Given the description of an element on the screen output the (x, y) to click on. 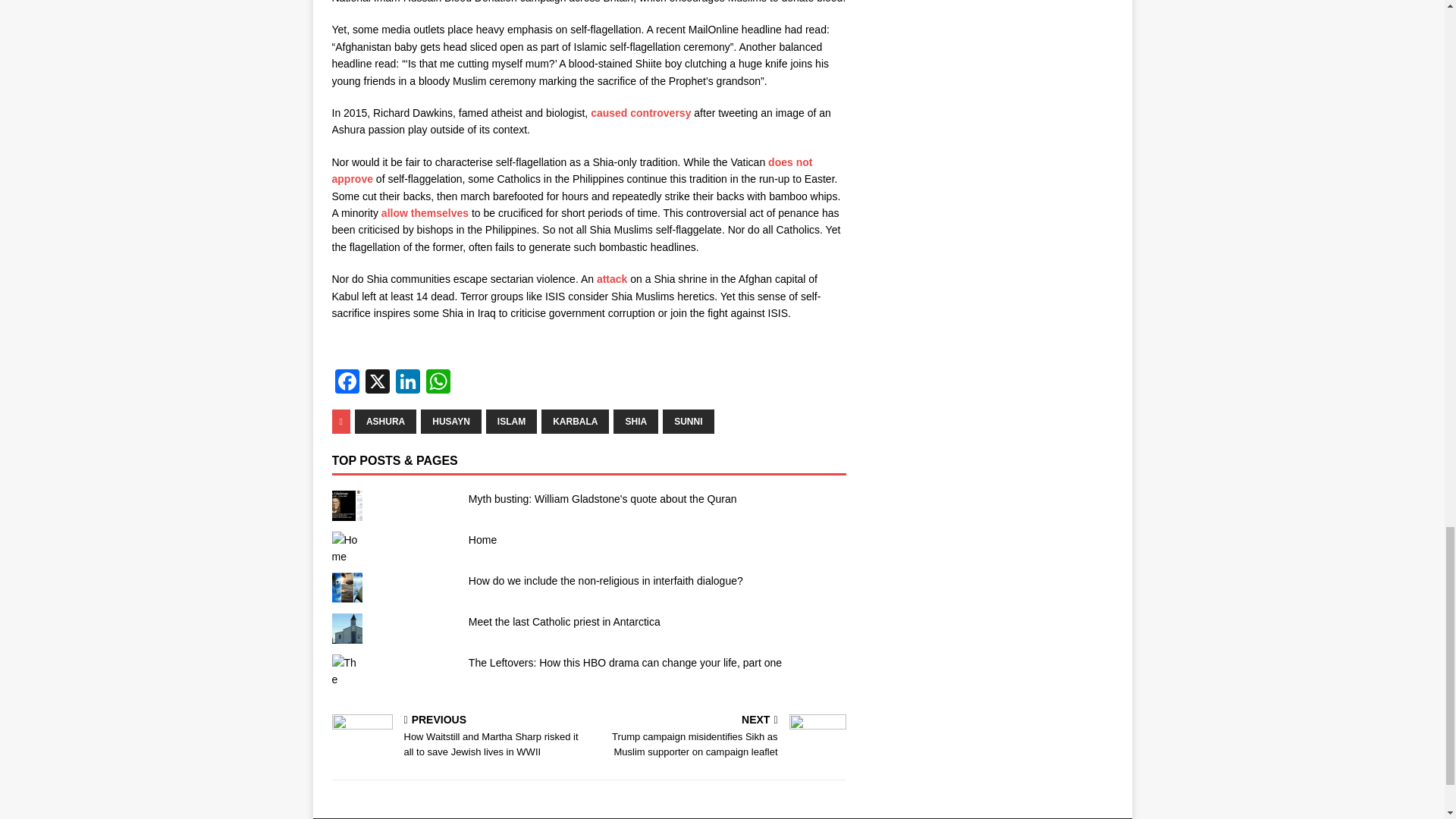
Myth busting: William Gladstone's quote about the Quran (602, 499)
Home (482, 539)
Facebook (346, 383)
WhatsApp (437, 383)
LinkedIn (408, 383)
X (377, 383)
How do we include the non-religious in interfaith dialogue? (605, 580)
